Given the description of an element on the screen output the (x, y) to click on. 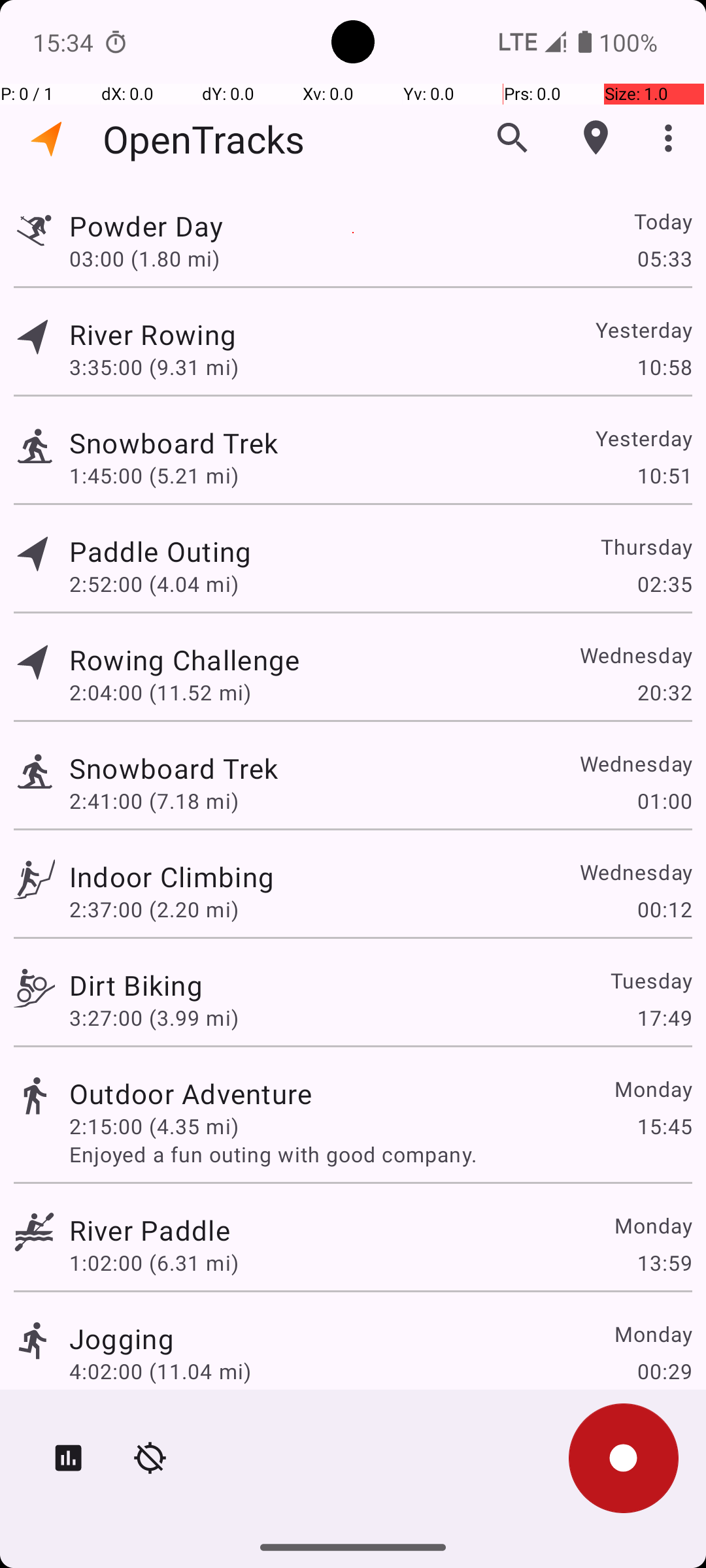
Powder Day Element type: android.widget.TextView (145, 225)
03:00 (1.80 mi) Element type: android.widget.TextView (144, 258)
05:33 Element type: android.widget.TextView (664, 258)
River Rowing Element type: android.widget.TextView (152, 333)
3:35:00 (9.31 mi) Element type: android.widget.TextView (153, 366)
10:58 Element type: android.widget.TextView (664, 366)
Snowboard Trek Element type: android.widget.TextView (173, 442)
1:45:00 (5.21 mi) Element type: android.widget.TextView (153, 475)
10:51 Element type: android.widget.TextView (664, 475)
Paddle Outing Element type: android.widget.TextView (159, 550)
2:52:00 (4.04 mi) Element type: android.widget.TextView (153, 583)
02:35 Element type: android.widget.TextView (664, 583)
Rowing Challenge Element type: android.widget.TextView (184, 659)
2:04:00 (11.52 mi) Element type: android.widget.TextView (159, 692)
20:32 Element type: android.widget.TextView (664, 692)
2:41:00 (7.18 mi) Element type: android.widget.TextView (153, 800)
01:00 Element type: android.widget.TextView (664, 800)
Indoor Climbing Element type: android.widget.TextView (171, 876)
2:37:00 (2.20 mi) Element type: android.widget.TextView (153, 909)
00:12 Element type: android.widget.TextView (664, 909)
Dirt Biking Element type: android.widget.TextView (135, 984)
3:27:00 (3.99 mi) Element type: android.widget.TextView (153, 1017)
17:49 Element type: android.widget.TextView (664, 1017)
Outdoor Adventure Element type: android.widget.TextView (190, 1092)
2:15:00 (4.35 mi) Element type: android.widget.TextView (153, 1125)
15:45 Element type: android.widget.TextView (664, 1125)
Enjoyed a fun outing with good company. Element type: android.widget.TextView (380, 1154)
River Paddle Element type: android.widget.TextView (149, 1229)
1:02:00 (6.31 mi) Element type: android.widget.TextView (153, 1262)
13:59 Element type: android.widget.TextView (664, 1262)
Jogging Element type: android.widget.TextView (121, 1337)
4:02:00 (11.04 mi) Element type: android.widget.TextView (159, 1370)
00:29 Element type: android.widget.TextView (664, 1370)
